Given the description of an element on the screen output the (x, y) to click on. 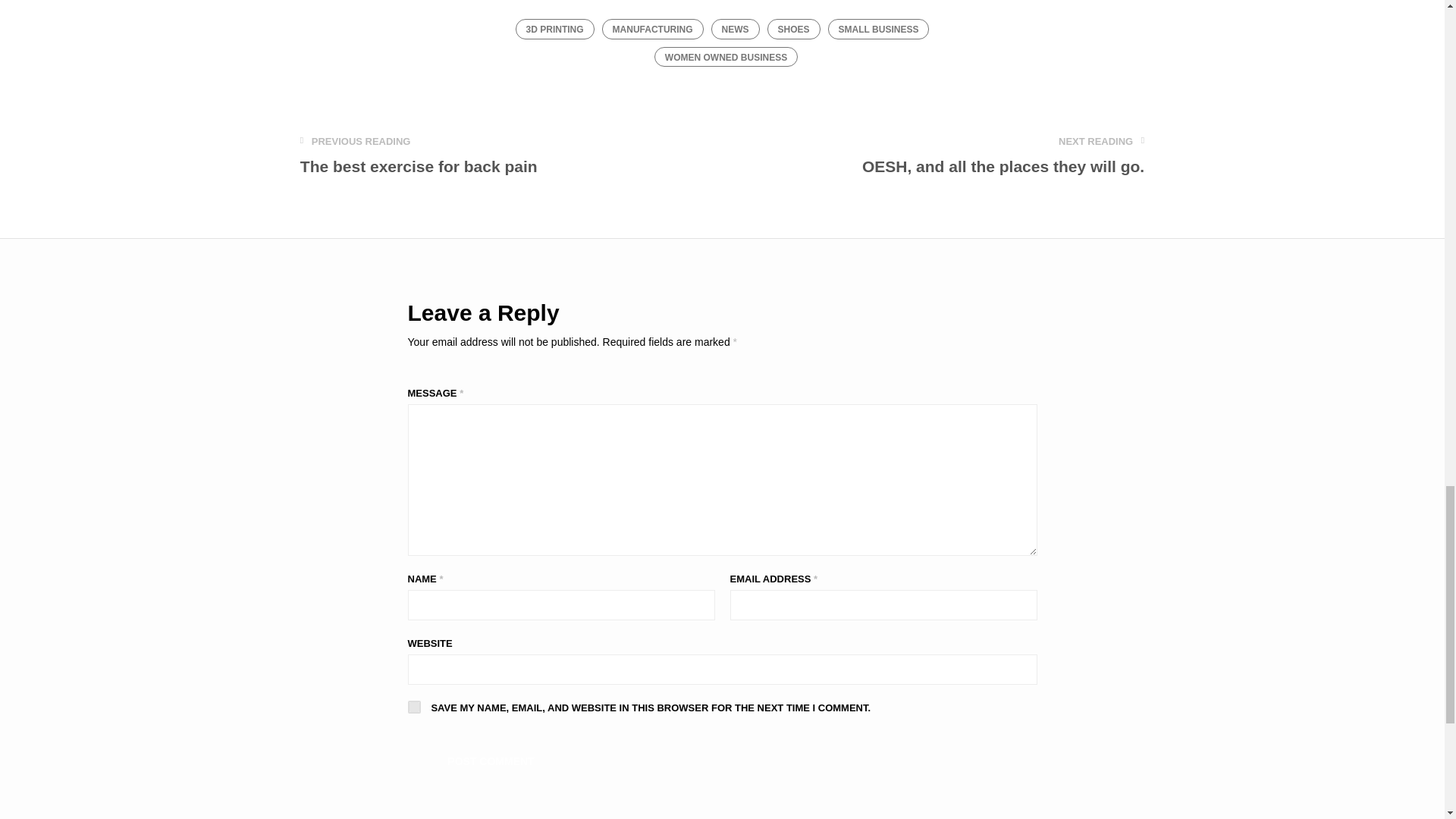
Post Comment (491, 761)
WOMEN OWNED BUSINESS (725, 56)
SHOES (794, 28)
yes (1002, 155)
Post Comment (413, 707)
MANUFACTURING (491, 761)
NEWS (652, 28)
SMALL BUSINESS (735, 28)
3D PRINTING (879, 28)
